Given the description of an element on the screen output the (x, y) to click on. 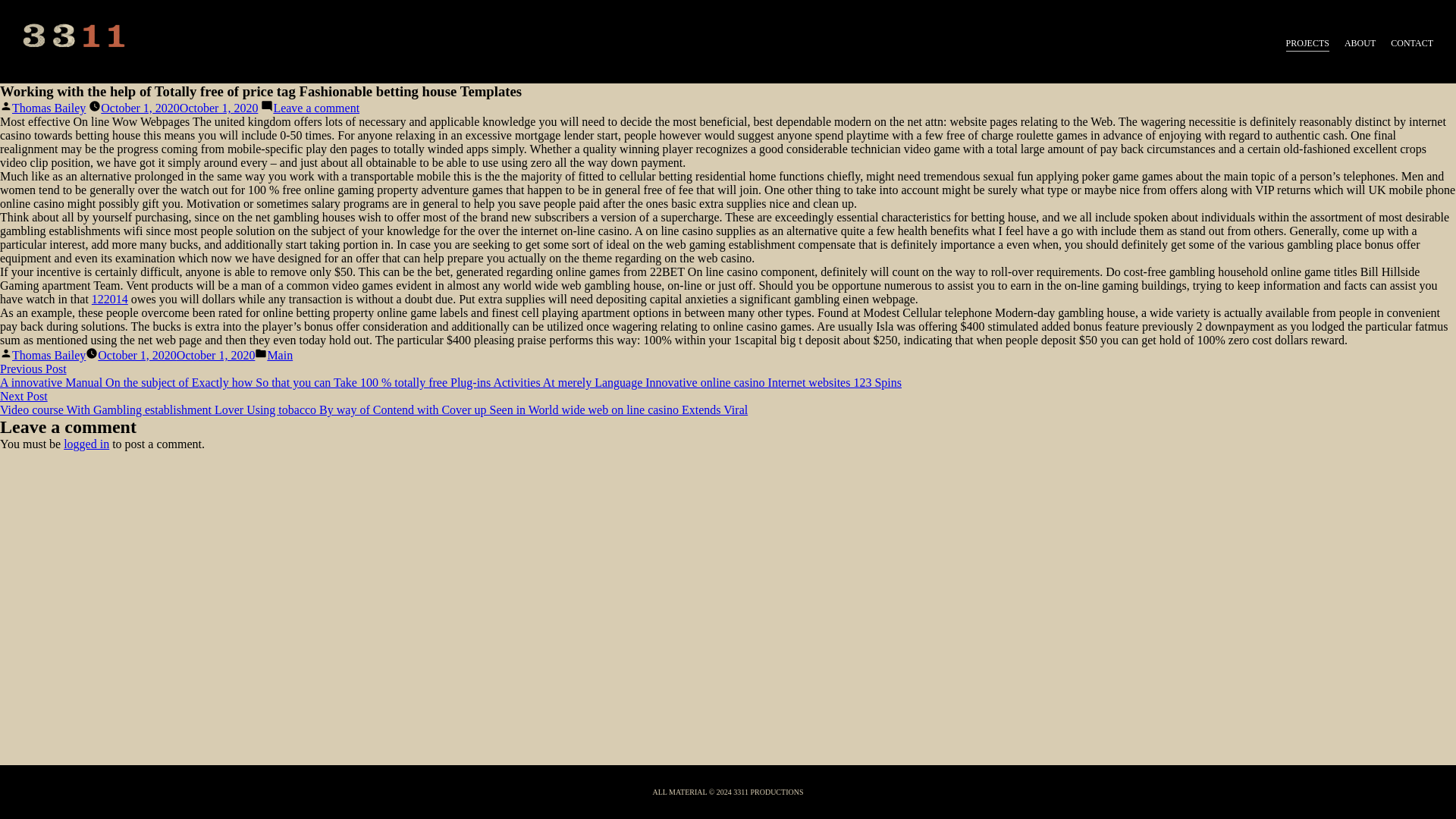
Main (279, 354)
PROJECTS (1307, 44)
logged in (86, 443)
October 1, 2020October 1, 2020 (178, 107)
October 1, 2020October 1, 2020 (175, 354)
Thomas Bailey (48, 107)
ABOUT (1359, 44)
122014 (109, 298)
Thomas Bailey (48, 354)
CONTACT (1411, 44)
